Given the description of an element on the screen output the (x, y) to click on. 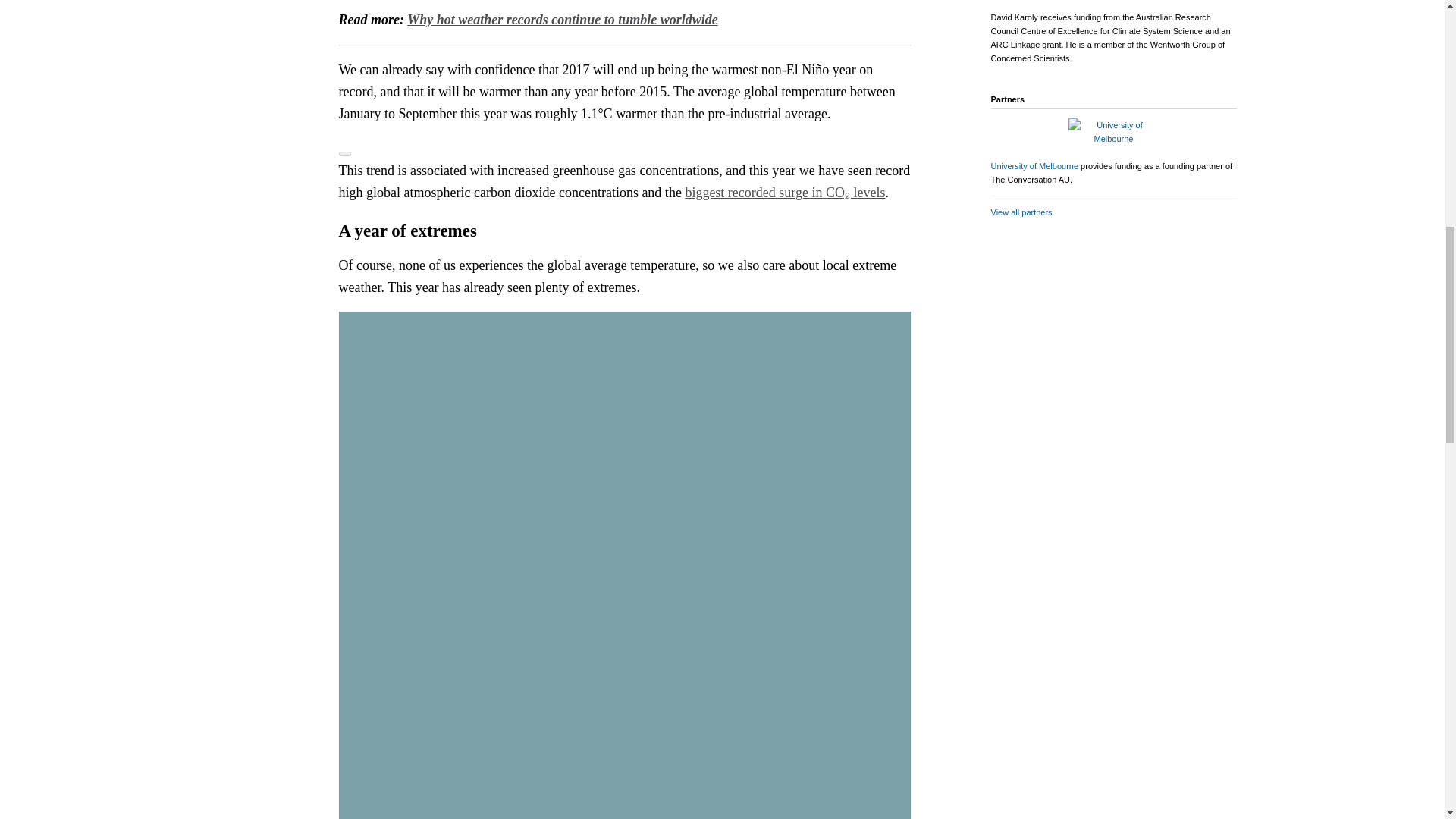
University of Melbourne (1034, 165)
View all partners (1020, 212)
